Given the description of an element on the screen output the (x, y) to click on. 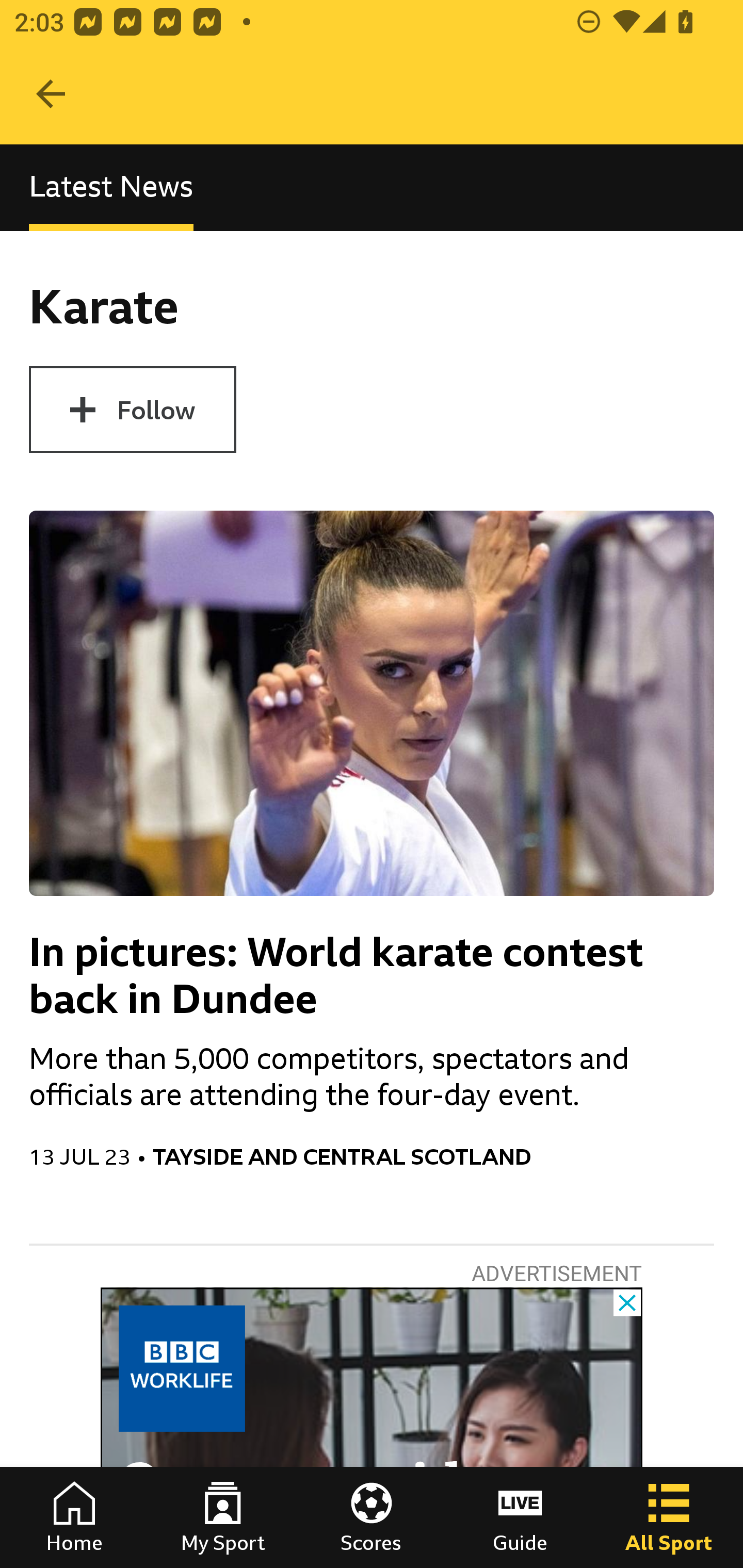
Navigate up (50, 93)
Latest News, selected Latest News (111, 187)
Follow Karate Follow (132, 409)
Home (74, 1517)
My Sport (222, 1517)
Scores (371, 1517)
Guide (519, 1517)
